Given the description of an element on the screen output the (x, y) to click on. 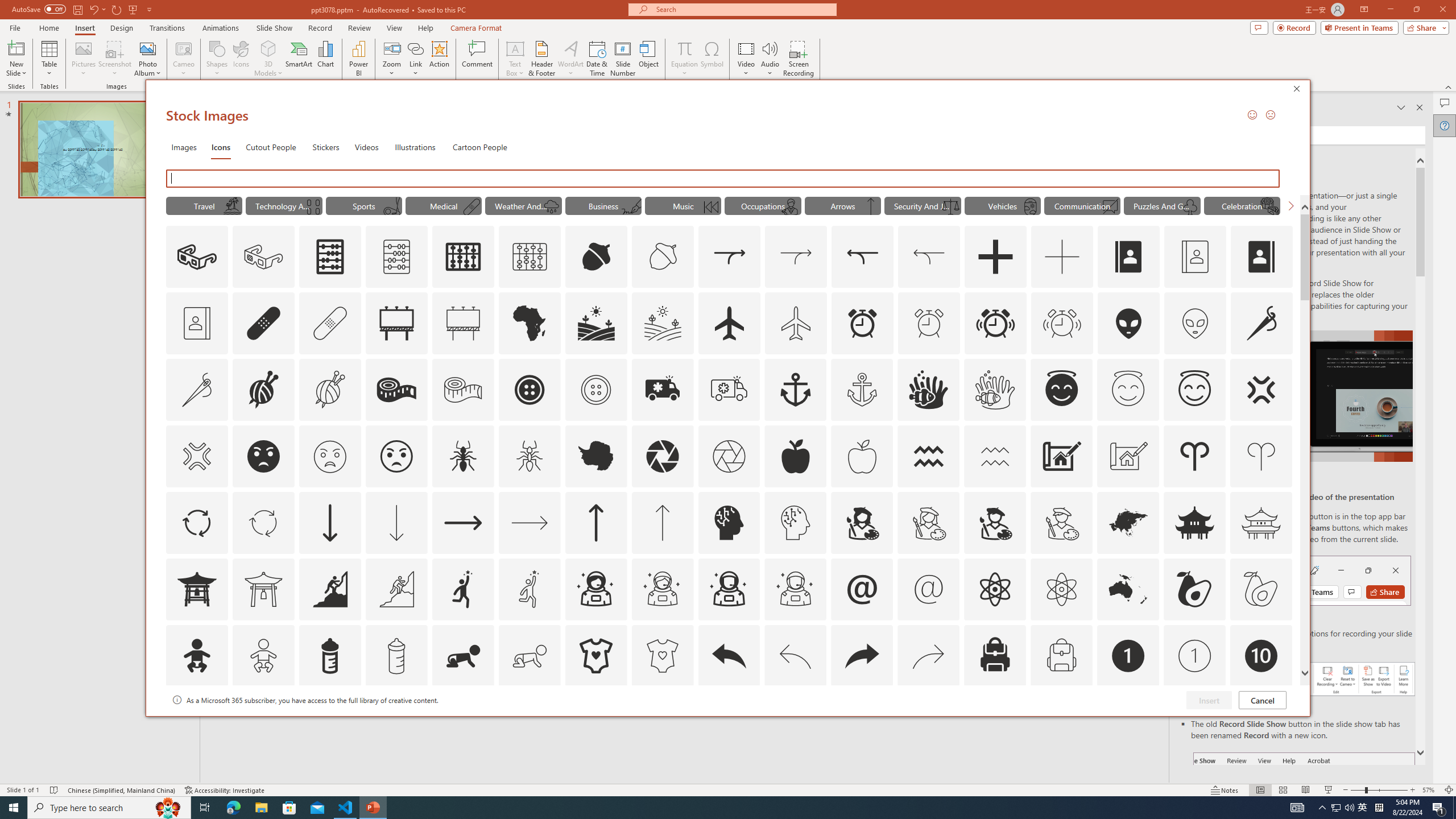
WordArt (570, 58)
AutomationID: Icons_Ambulance_M (729, 389)
AutomationID: Icons_AddressBook_LTR (1128, 256)
AutomationID: _134_Angel_Face_A (1061, 388)
"Vehicles" Icons. (1002, 205)
AutomationID: Icons_Badge10_M (196, 721)
Cutout People (271, 146)
